Given the description of an element on the screen output the (x, y) to click on. 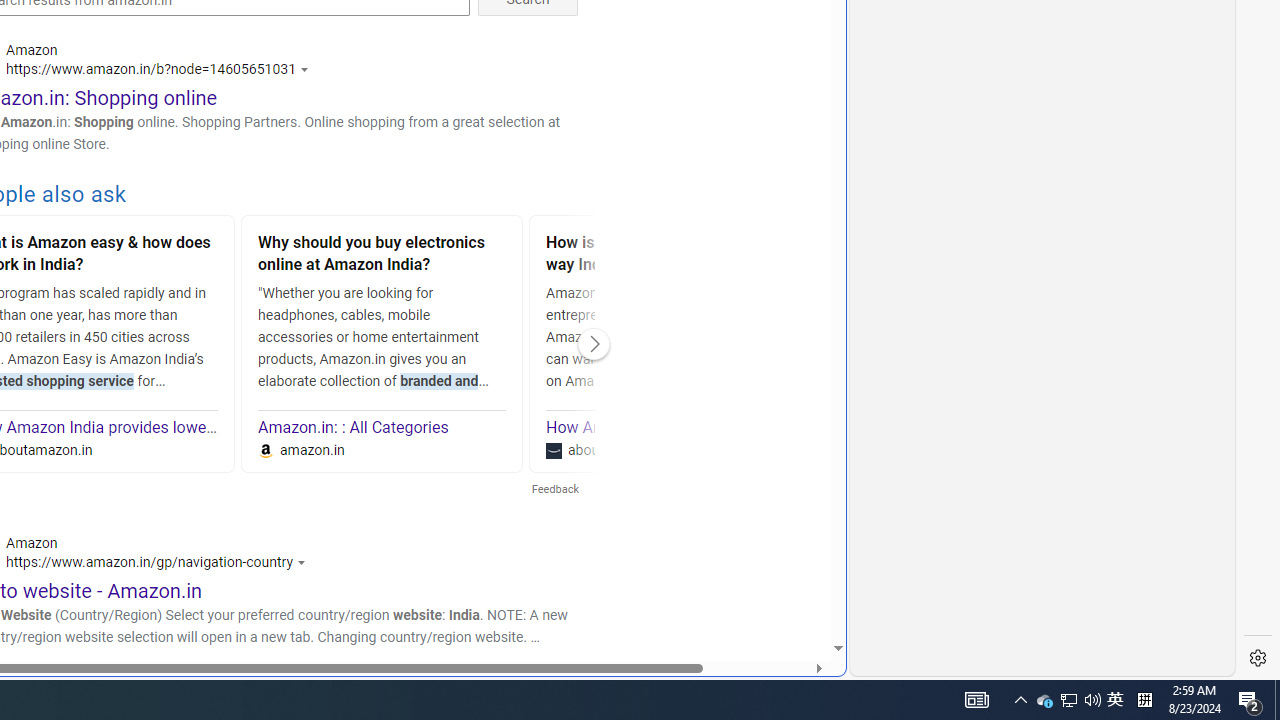
How is Amazon easy changing the way India buys? (669, 255)
Amazon.in: : All Categories (353, 427)
